Given the description of an element on the screen output the (x, y) to click on. 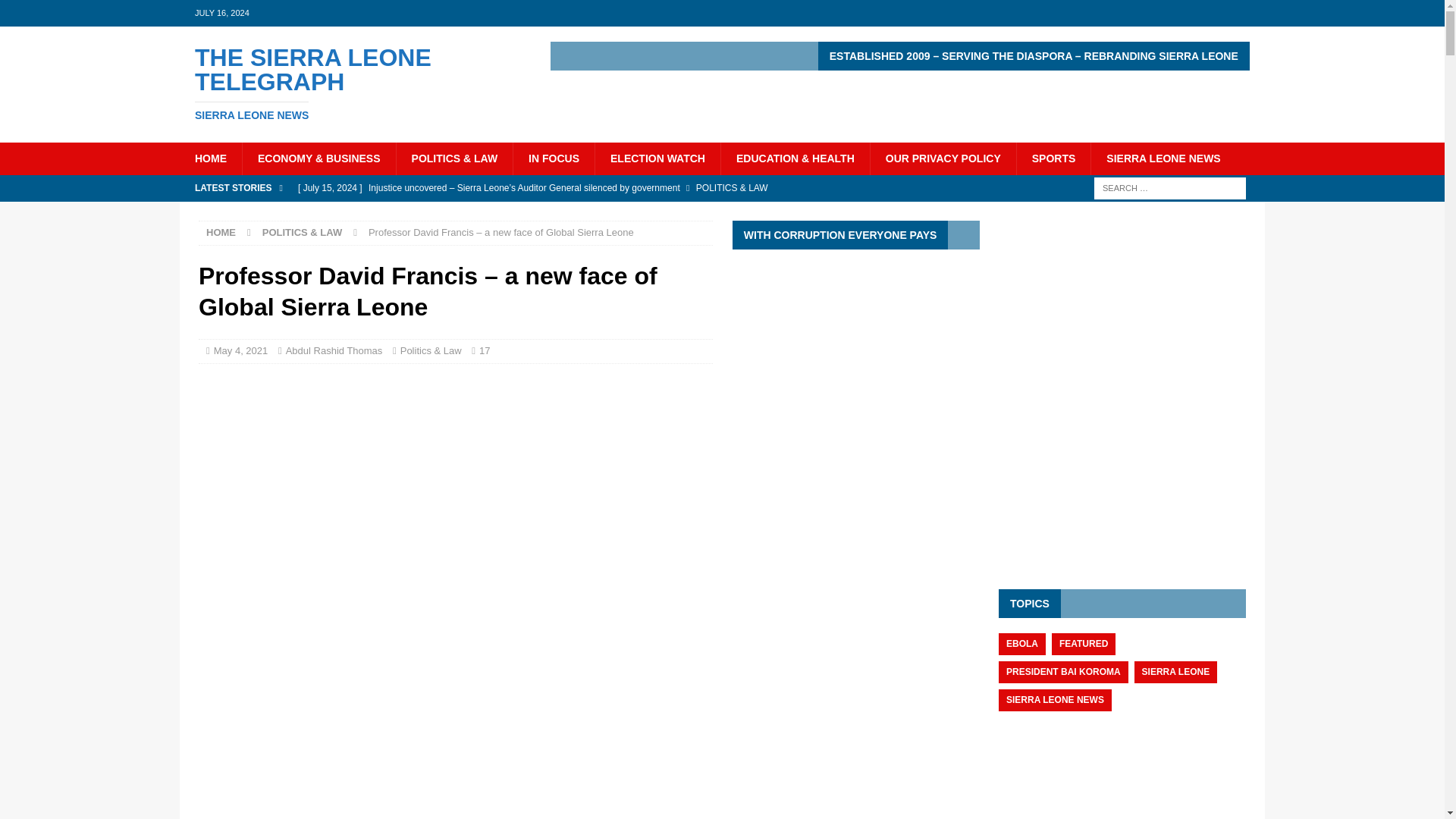
Search (56, 11)
HOME (220, 232)
SIERRA LEONE NEWS (1162, 158)
Abdul Rashid Thomas (333, 350)
May 4, 2021 (240, 350)
OUR PRIVACY POLICY (942, 158)
17 (484, 350)
ELECTION WATCH (657, 158)
